Given the description of an element on the screen output the (x, y) to click on. 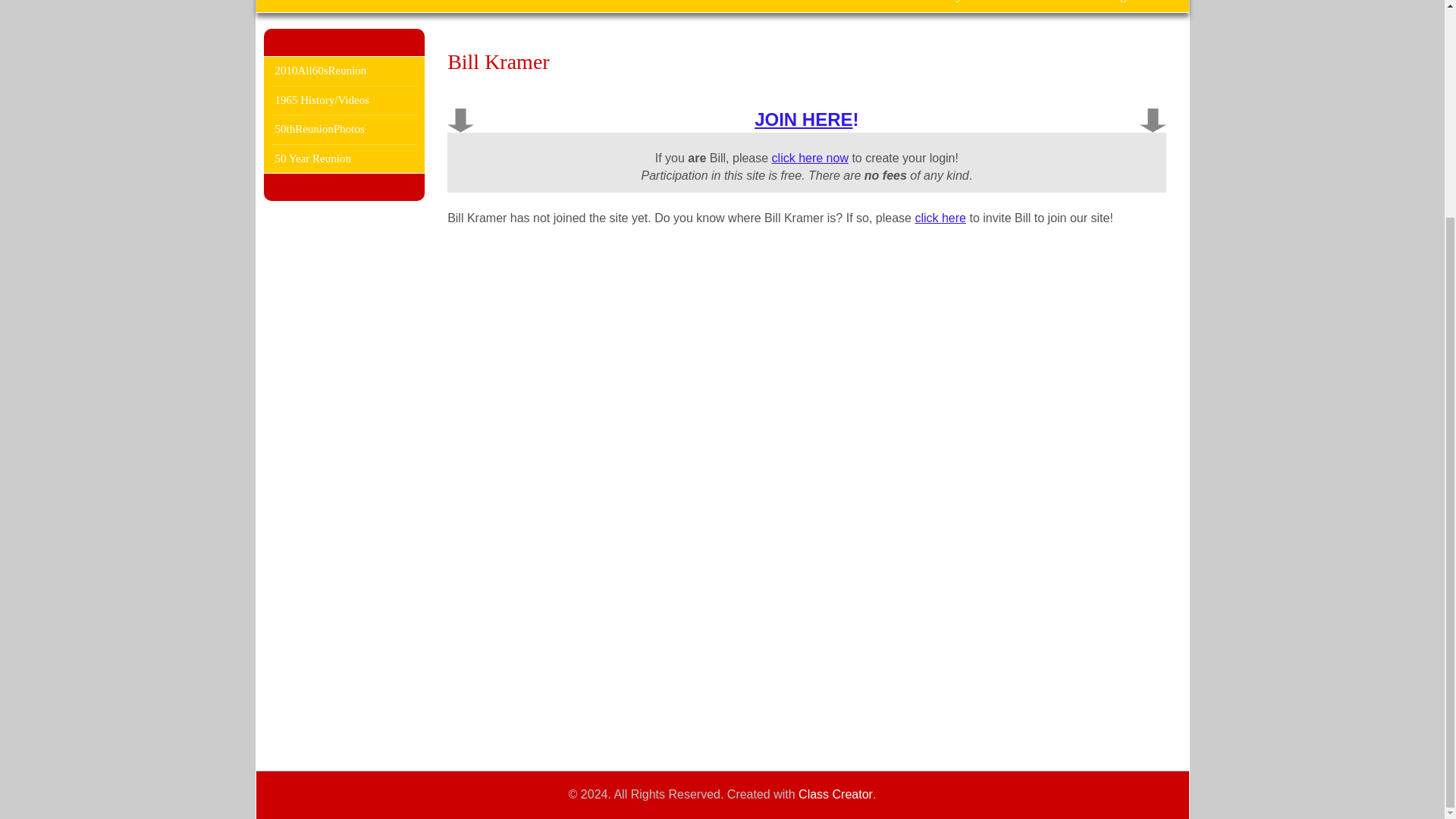
In Memory (933, 6)
Home Page (1103, 6)
2010All60sReunion (343, 70)
User Forums (592, 6)
JOIN HERE! (806, 118)
click here now (809, 157)
Contact Us (767, 6)
50thReunionPhotos (343, 128)
Class Creator (834, 794)
click here (940, 217)
